Given the description of an element on the screen output the (x, y) to click on. 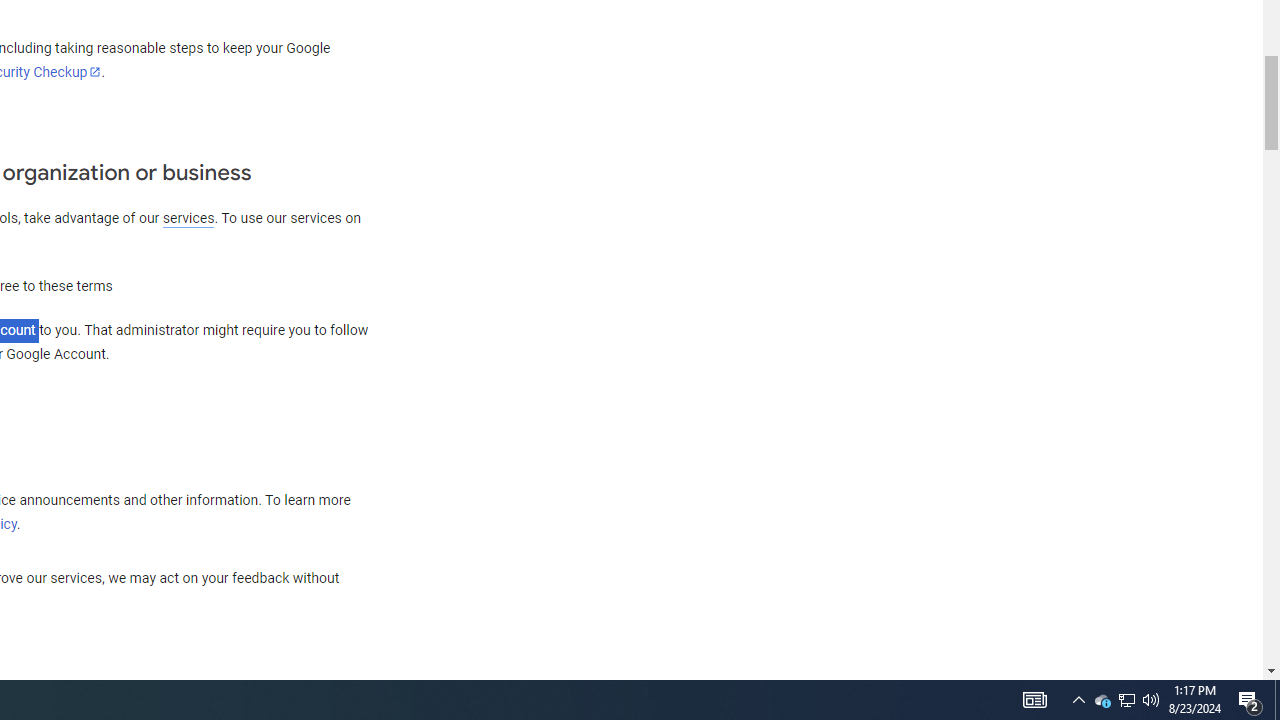
services (188, 218)
